Given the description of an element on the screen output the (x, y) to click on. 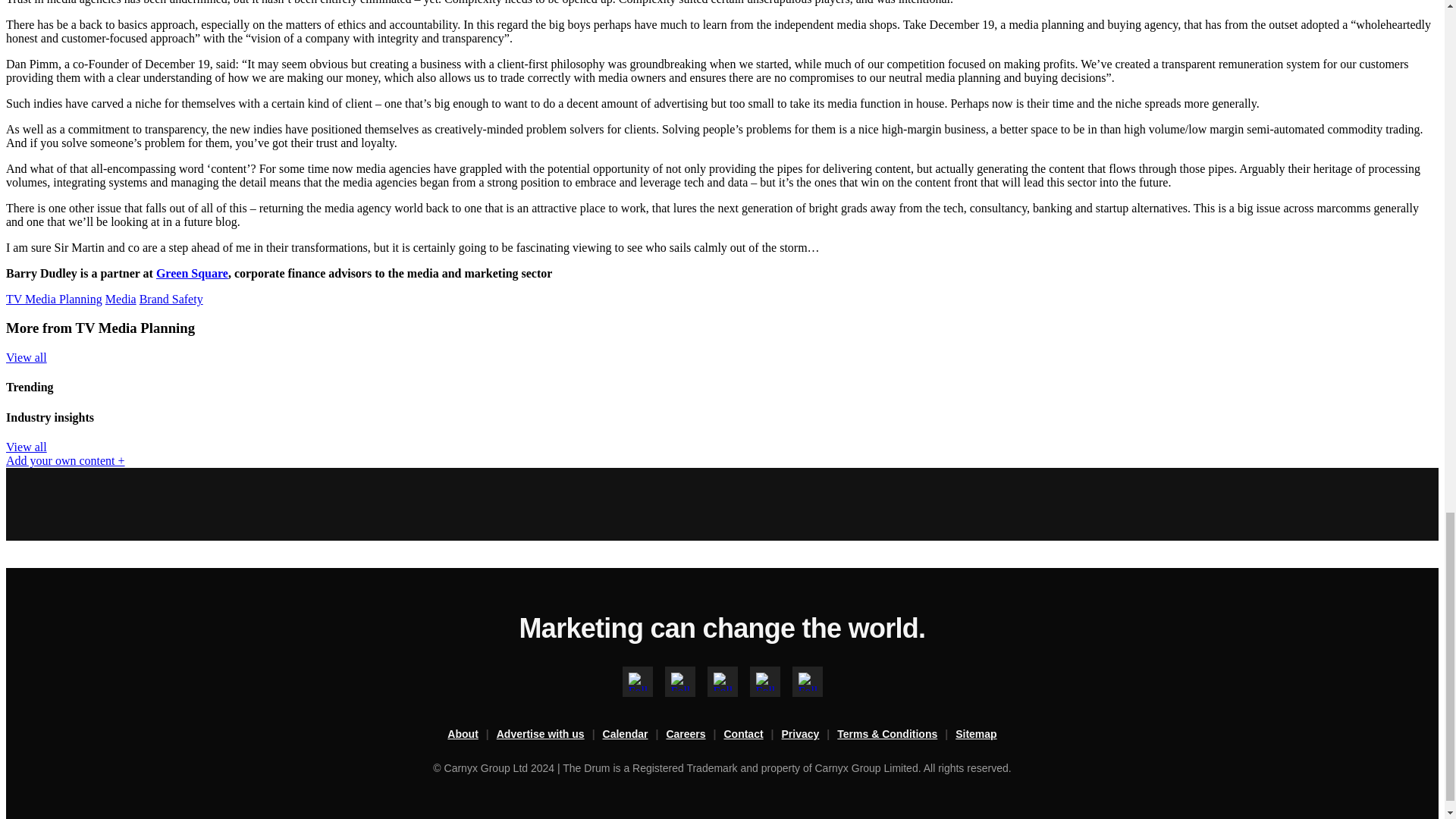
Media (120, 298)
Brand Safety (171, 298)
View all (25, 446)
About (471, 734)
Green Square (191, 273)
TV Media Planning (53, 298)
View all (25, 357)
